Given the description of an element on the screen output the (x, y) to click on. 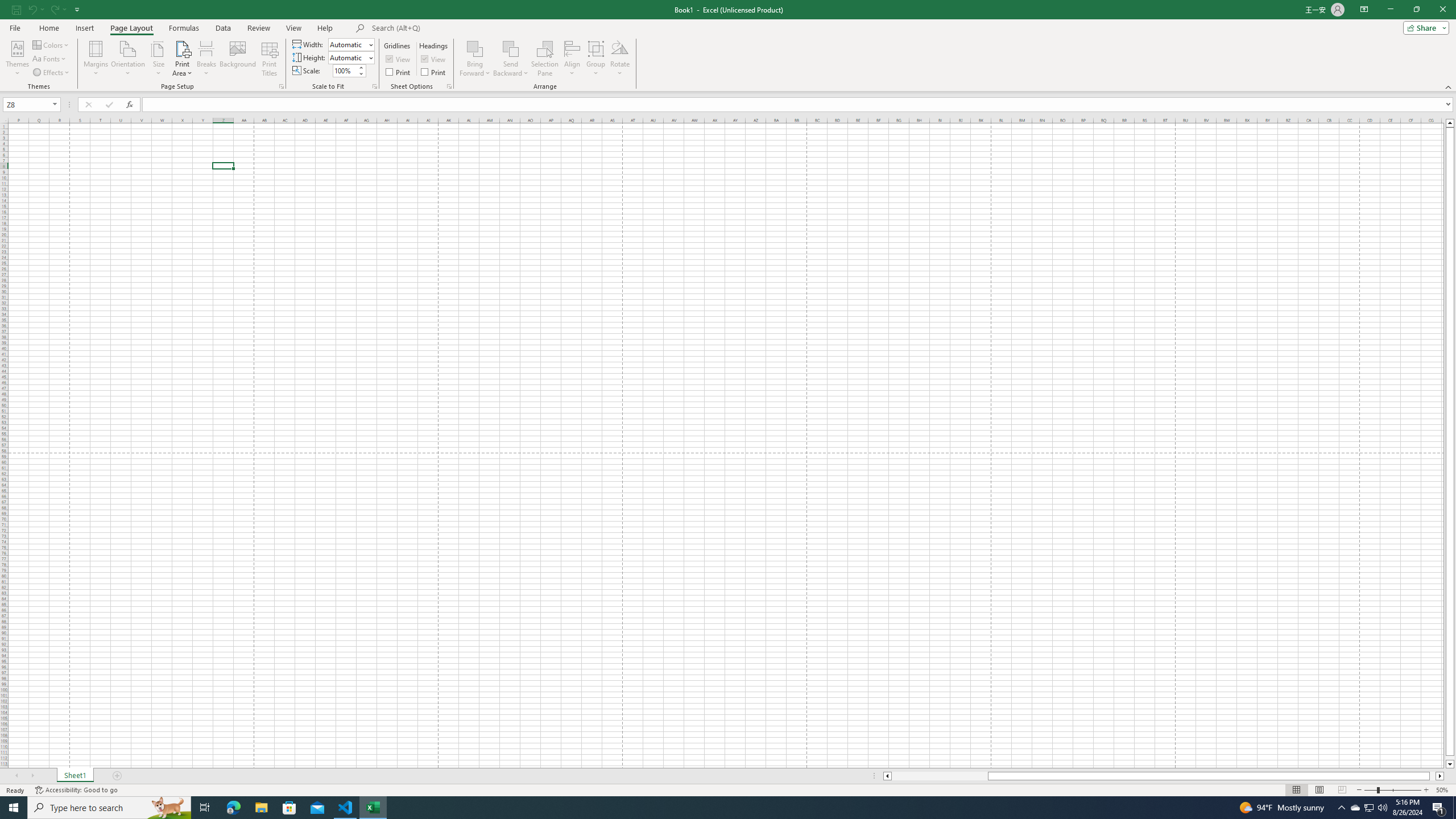
Colors (51, 44)
Less (360, 73)
Column left (886, 775)
Zoom (1392, 790)
Ribbon Display Options (1364, 9)
Bring Forward (475, 58)
Page Break Preview (1342, 790)
Open (54, 104)
Height (347, 57)
Quick Access Toolbar (46, 9)
Data (223, 28)
